Given the description of an element on the screen output the (x, y) to click on. 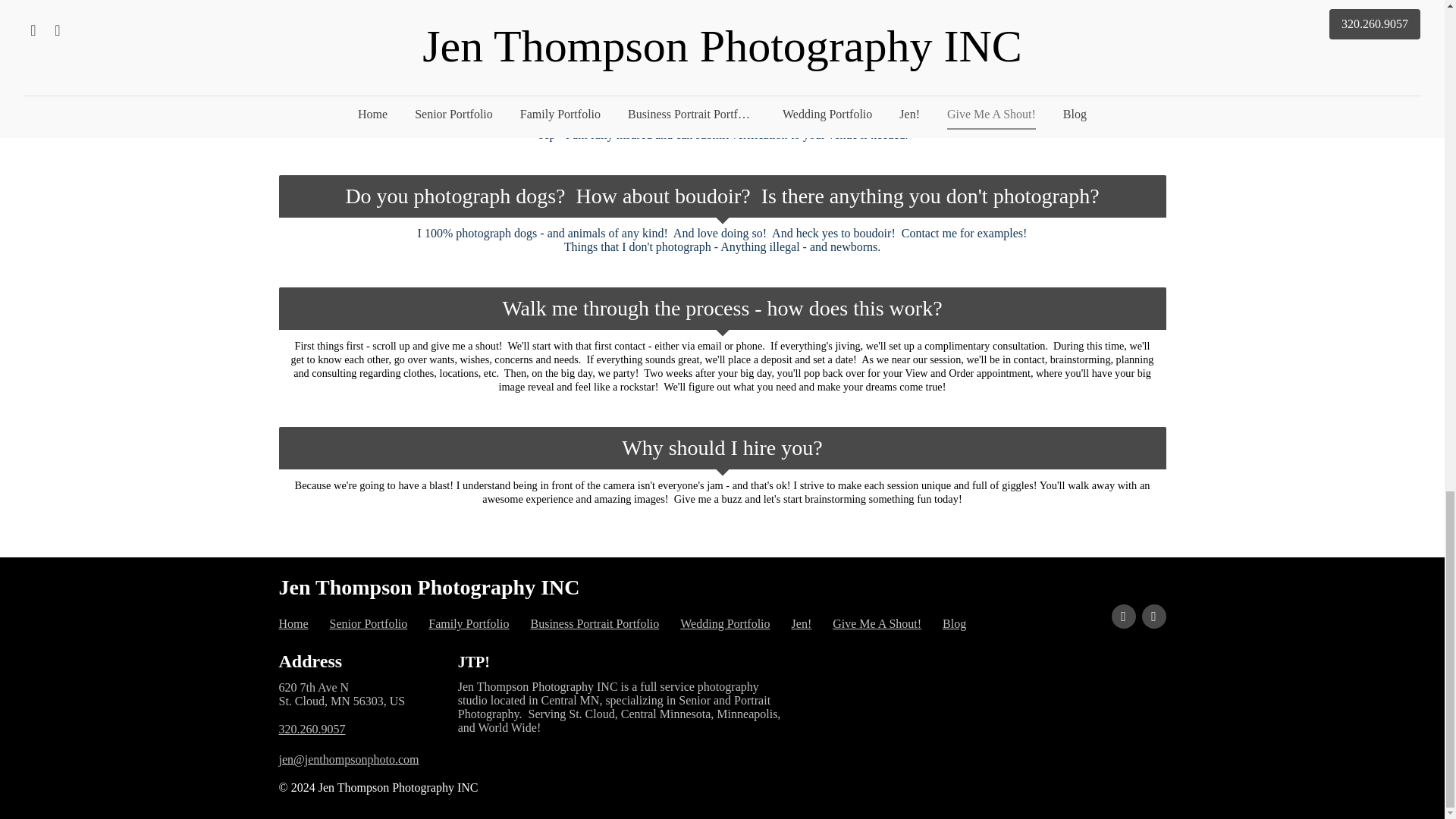
Jen! (802, 623)
320.260.9057 (312, 729)
Business Portrait Portfolio (595, 623)
Home (293, 623)
Family Portfolio (468, 623)
Wedding Portfolio (724, 623)
Senior Portfolio (368, 623)
Give Me A Shout! (876, 623)
Blog (954, 623)
